Given the description of an element on the screen output the (x, y) to click on. 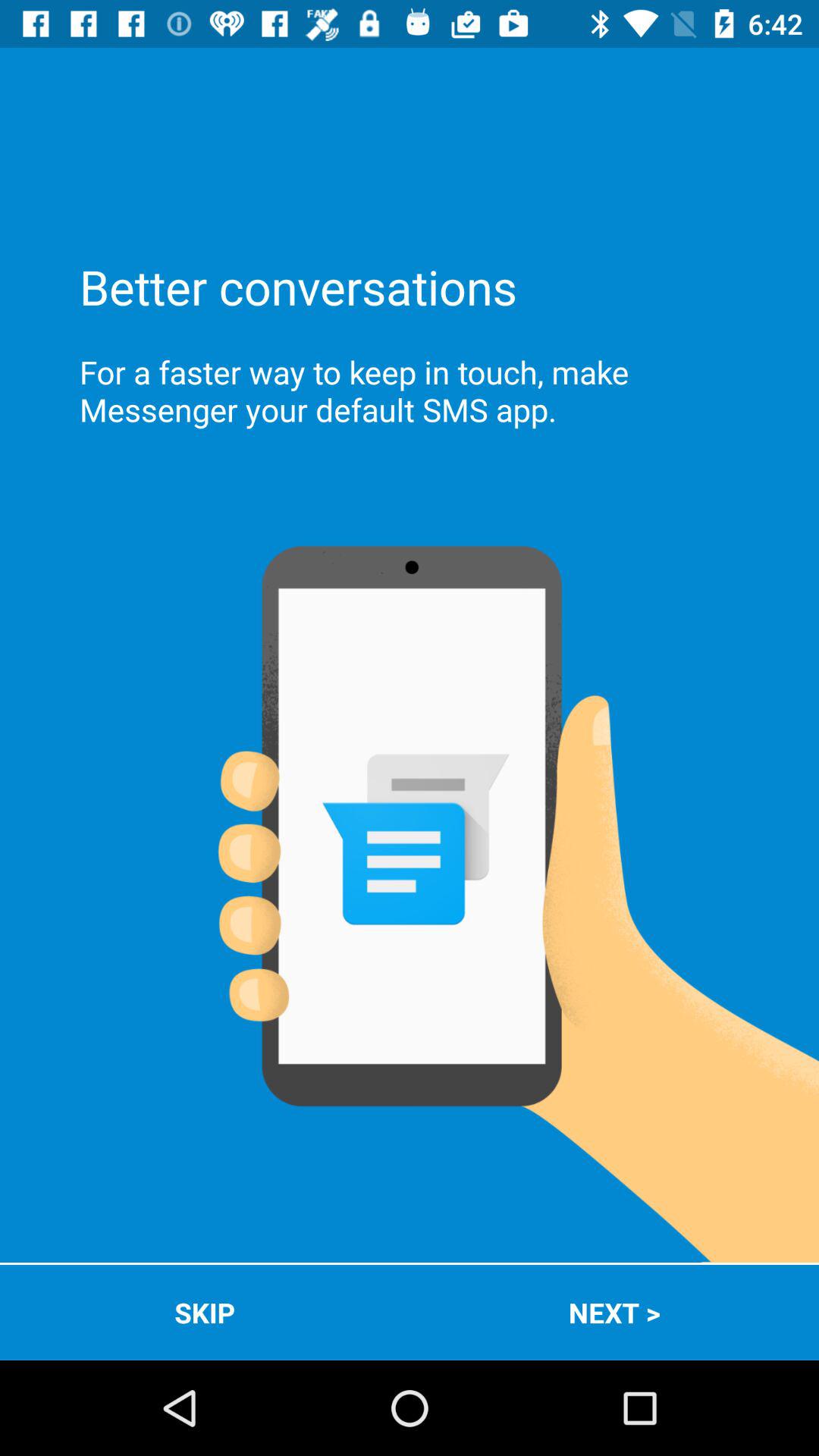
open the next > app (614, 1312)
